Given the description of an element on the screen output the (x, y) to click on. 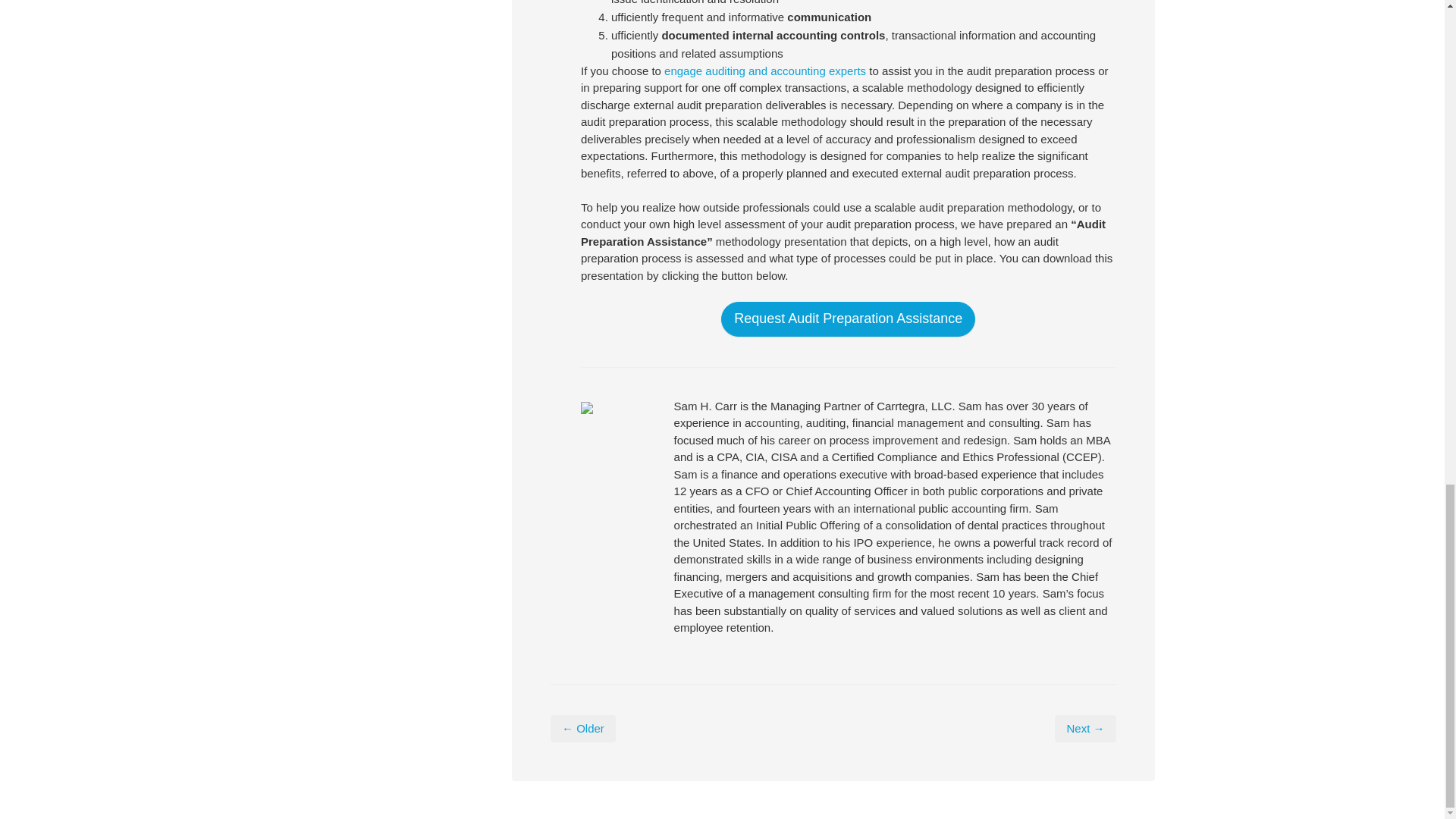
Request Audit Preparation Assistance (847, 319)
engage auditing and accounting experts (764, 70)
